Given the description of an element on the screen output the (x, y) to click on. 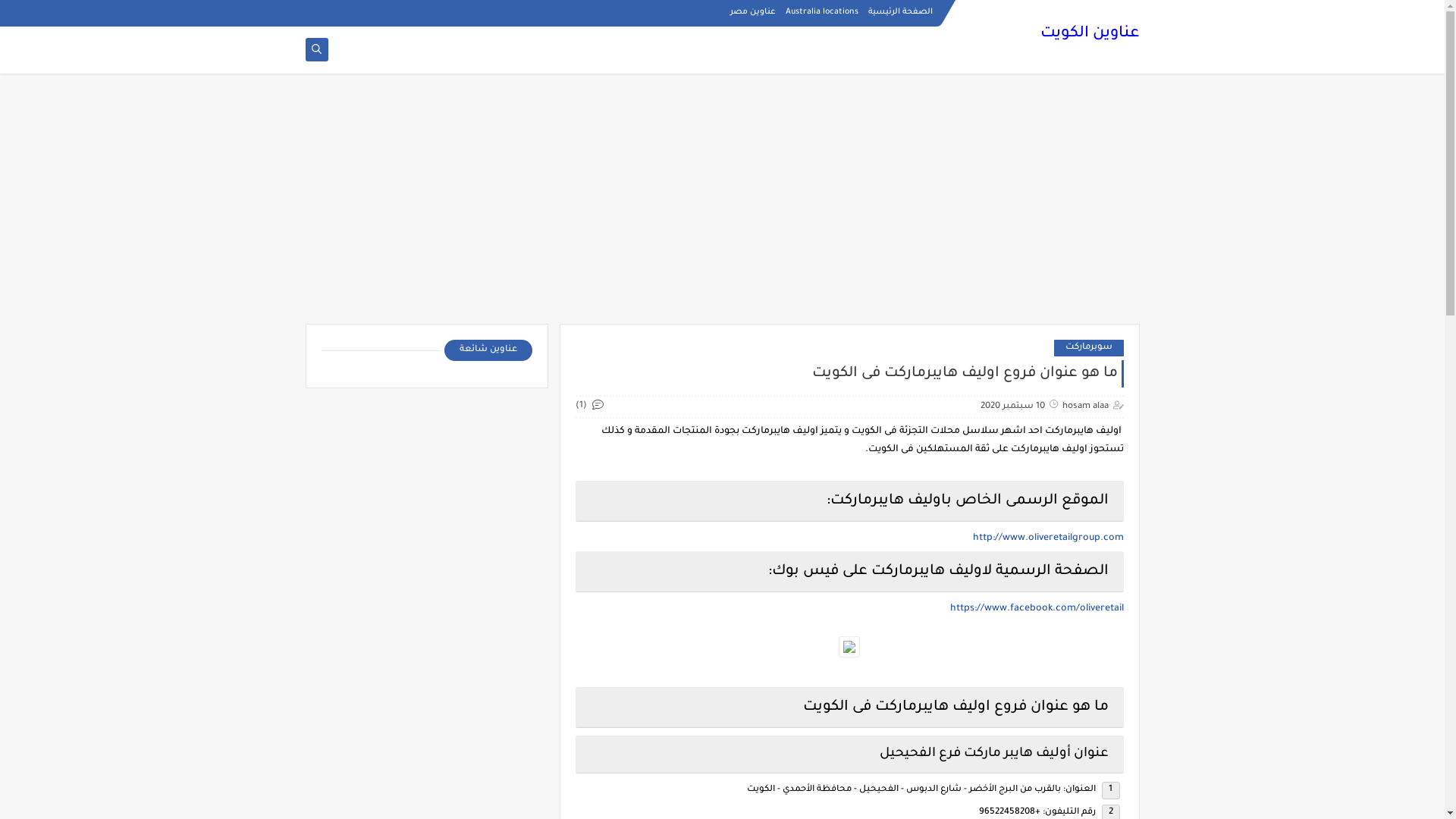
Australia locations Element type: text (821, 11)
hosam alaa Element type: text (1084, 406)
https://www.facebook.com/oliveretail Element type: text (1036, 608)
Advertisement Element type: hover (721, 206)
http://www.oliveretailgroup.com Element type: text (1047, 538)
